Given the description of an element on the screen output the (x, y) to click on. 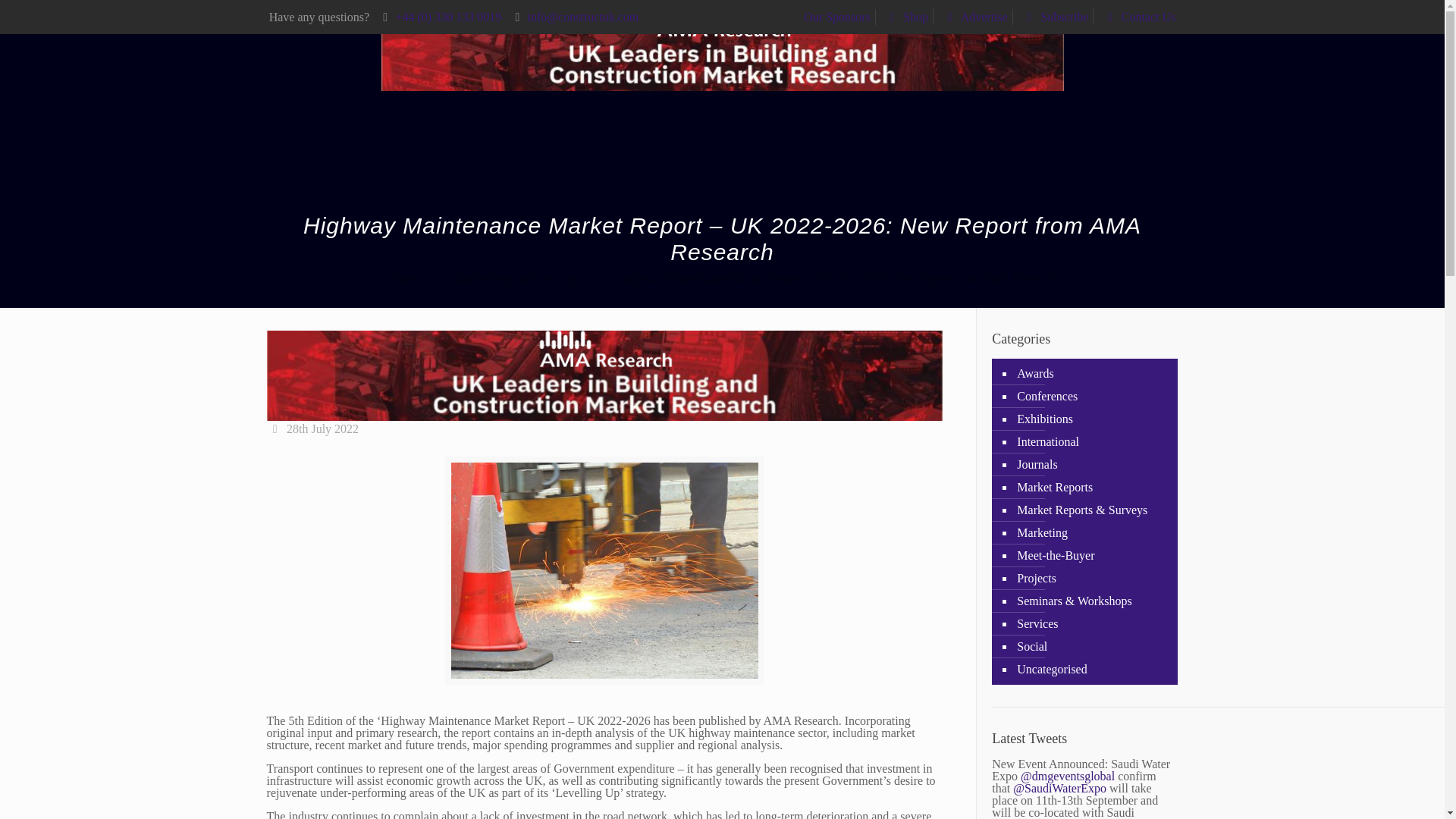
Shop (905, 16)
Saudi Water Expo (1059, 788)
Advertise (973, 16)
Contact Us (1137, 16)
Subscribe (1053, 16)
Our Sponsors (836, 16)
dmgevents (1067, 775)
